Given the description of an element on the screen output the (x, y) to click on. 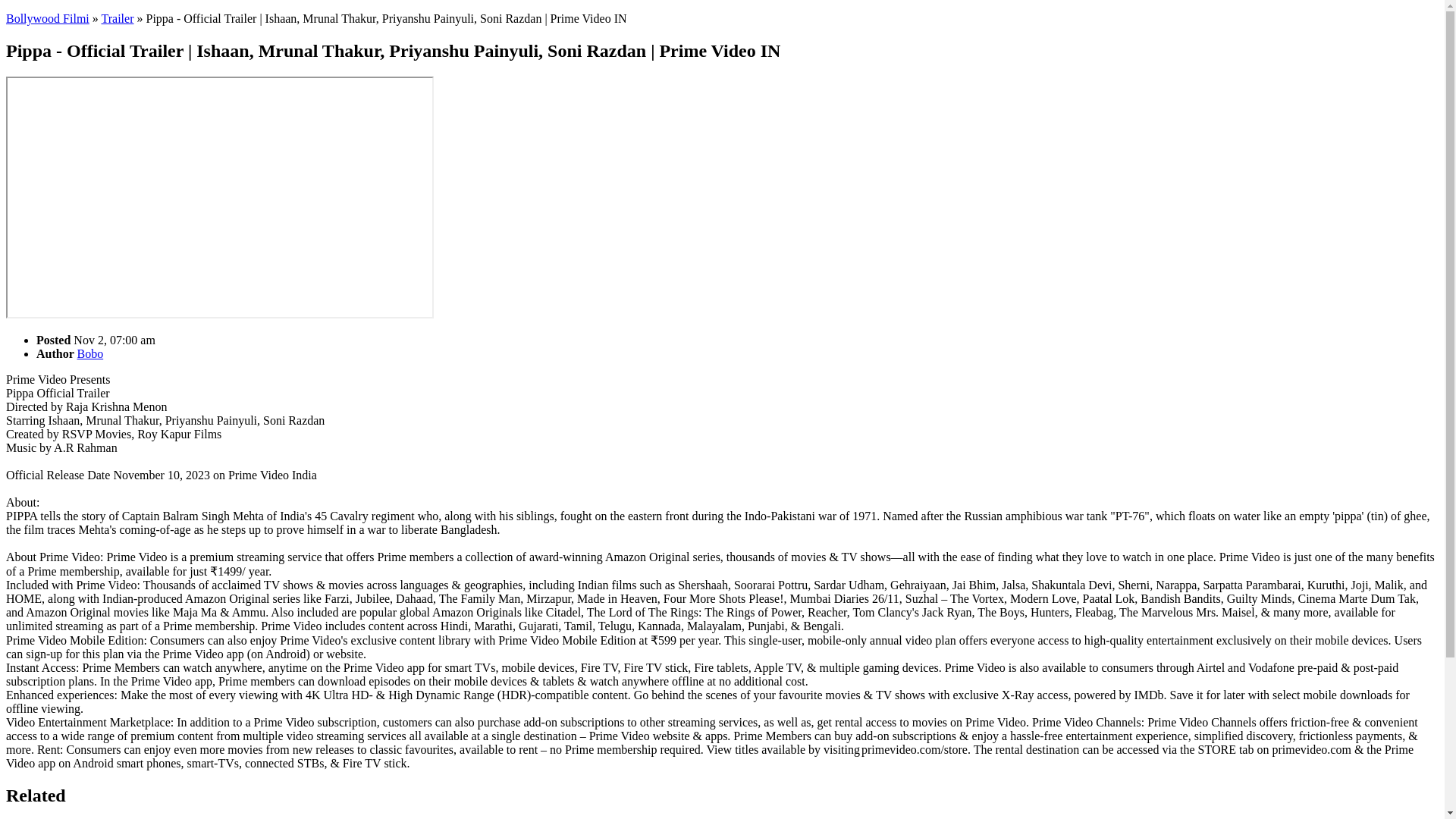
Bollywood Filmi (46, 18)
Bobo (90, 353)
Trailer (117, 18)
